Given the description of an element on the screen output the (x, y) to click on. 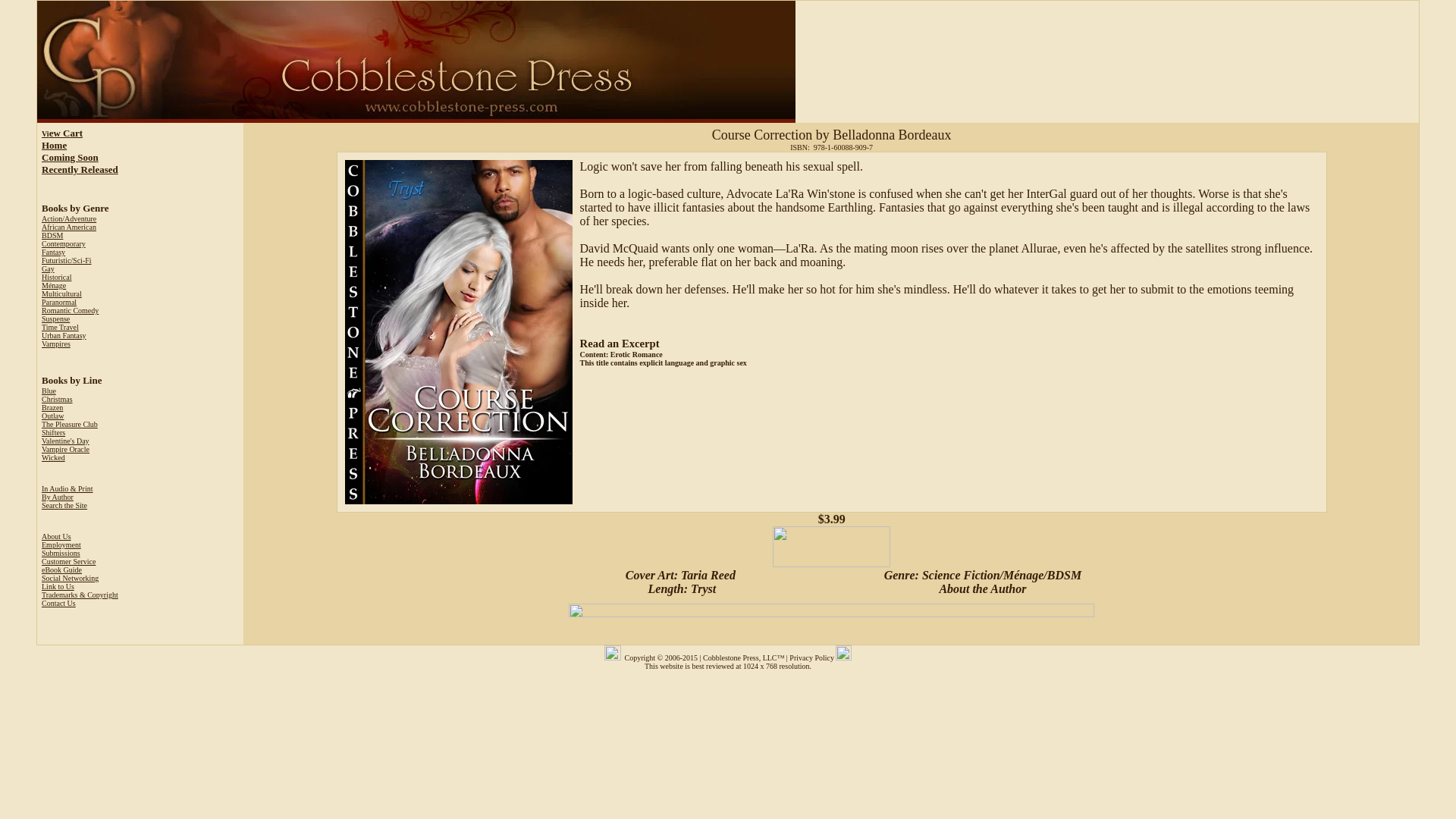
Valentine's Day (65, 440)
By Author (58, 497)
Christmas (57, 398)
Time Travel (60, 326)
Vampires (55, 343)
Employment (61, 544)
Brazen (52, 407)
Submissions (61, 552)
The Pleasure Club (69, 424)
Blue (49, 390)
